Given the description of an element on the screen output the (x, y) to click on. 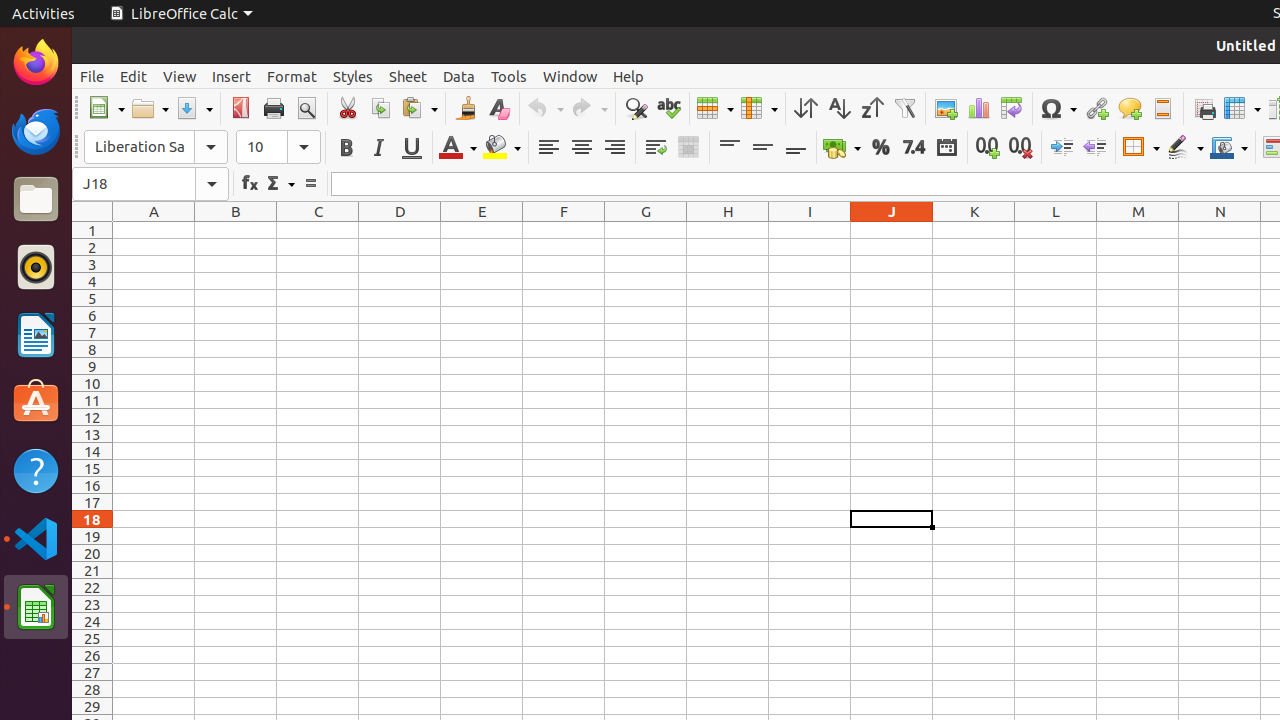
Headers and Footers Element type: push-button (1162, 108)
Name Box Element type: panel (150, 184)
Column Element type: push-button (759, 108)
Align Left Element type: push-button (548, 147)
F1 Element type: table-cell (564, 230)
